Given the description of an element on the screen output the (x, y) to click on. 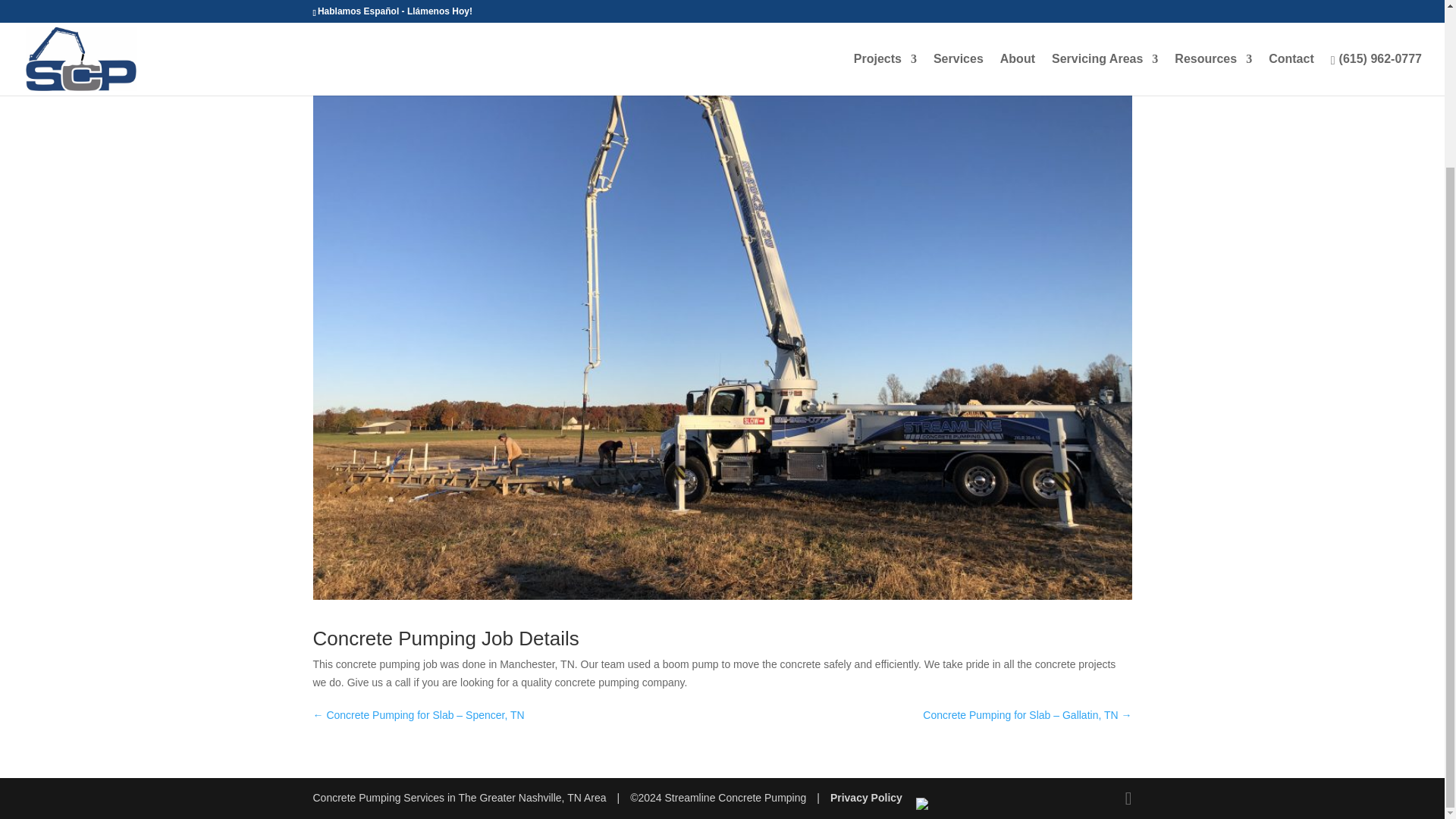
Privacy Policy (865, 797)
